Given the description of an element on the screen output the (x, y) to click on. 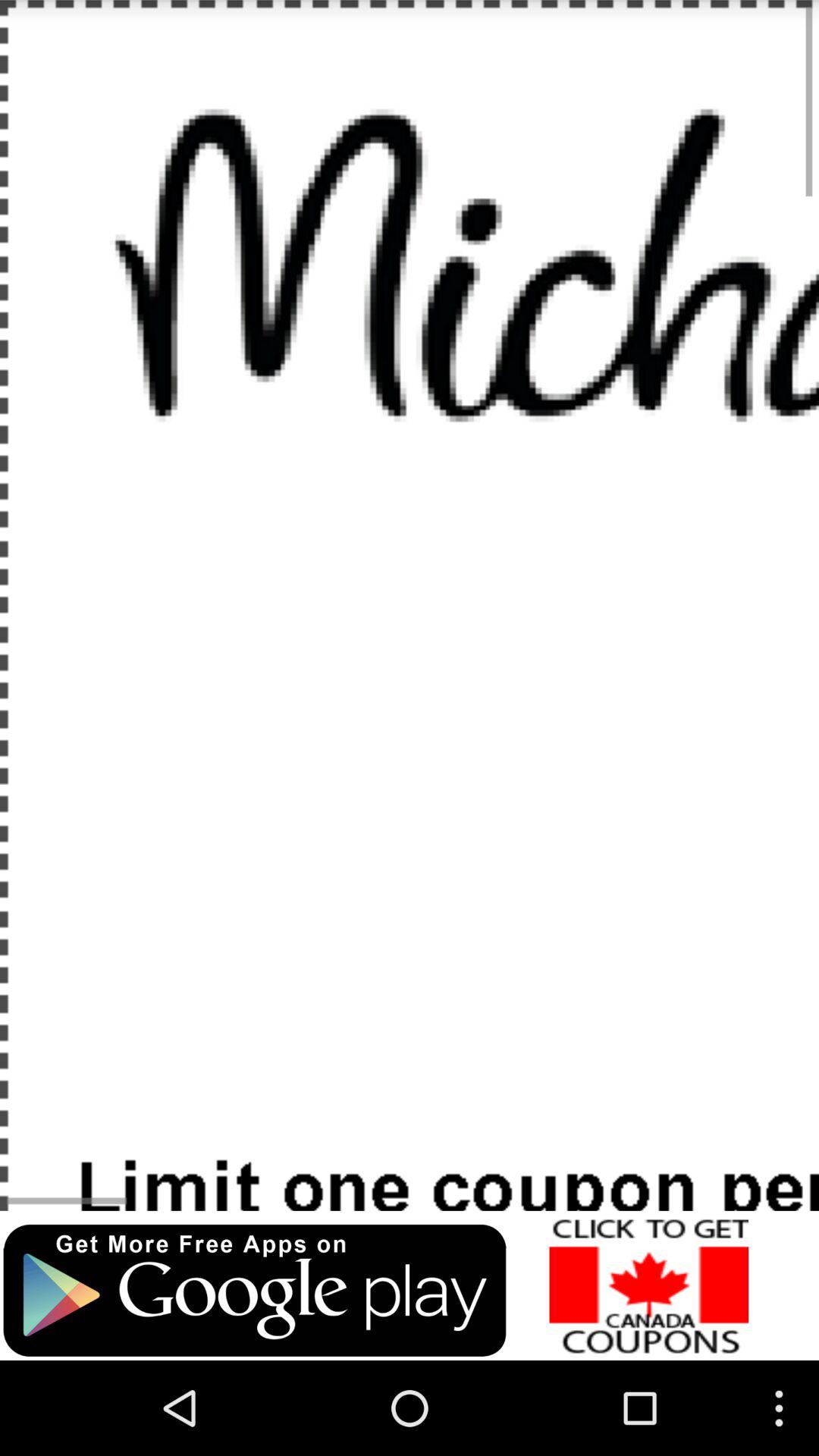
open advertisement (648, 1285)
